Given the description of an element on the screen output the (x, y) to click on. 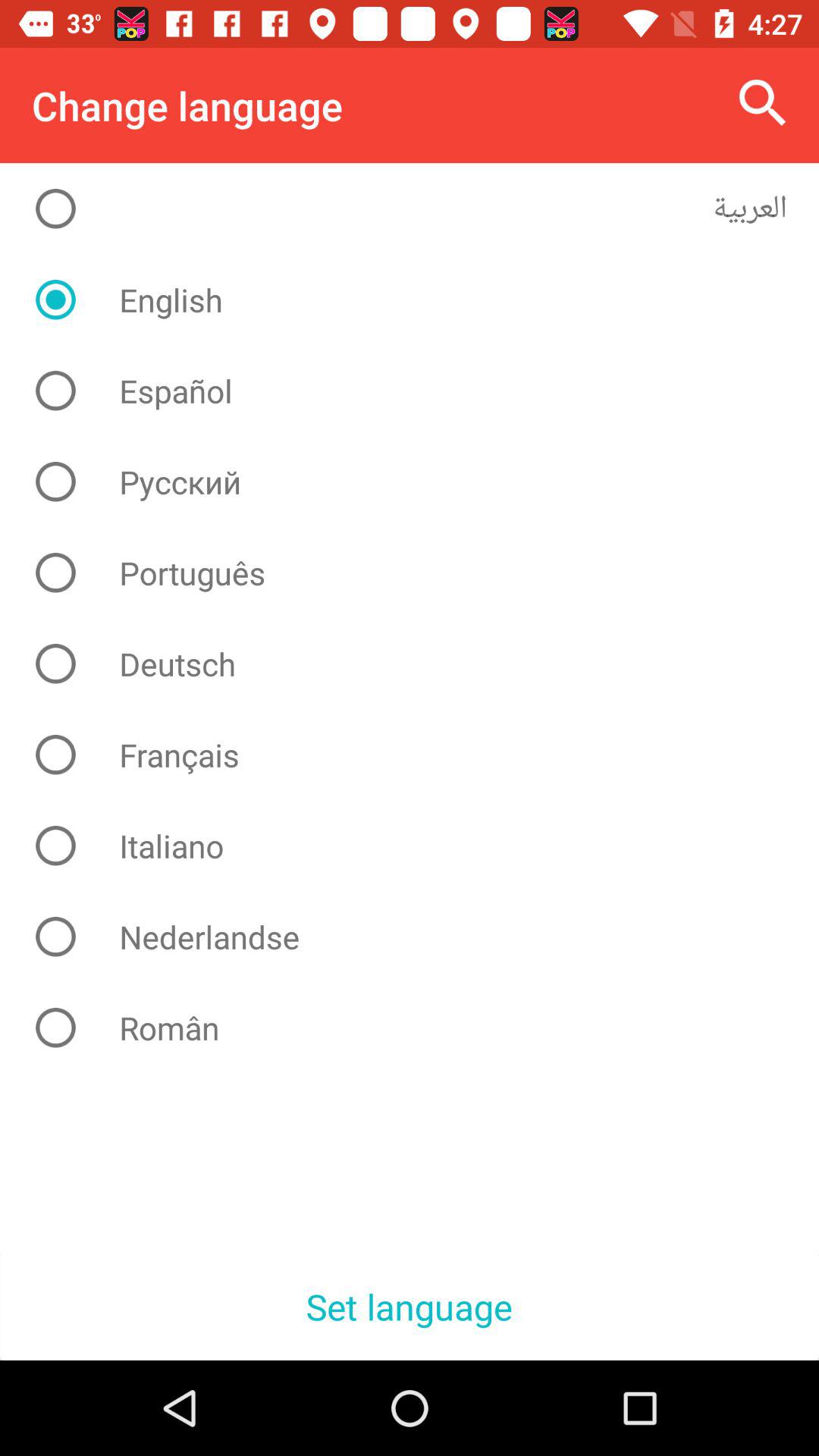
flip to nederlandse item (421, 936)
